Given the description of an element on the screen output the (x, y) to click on. 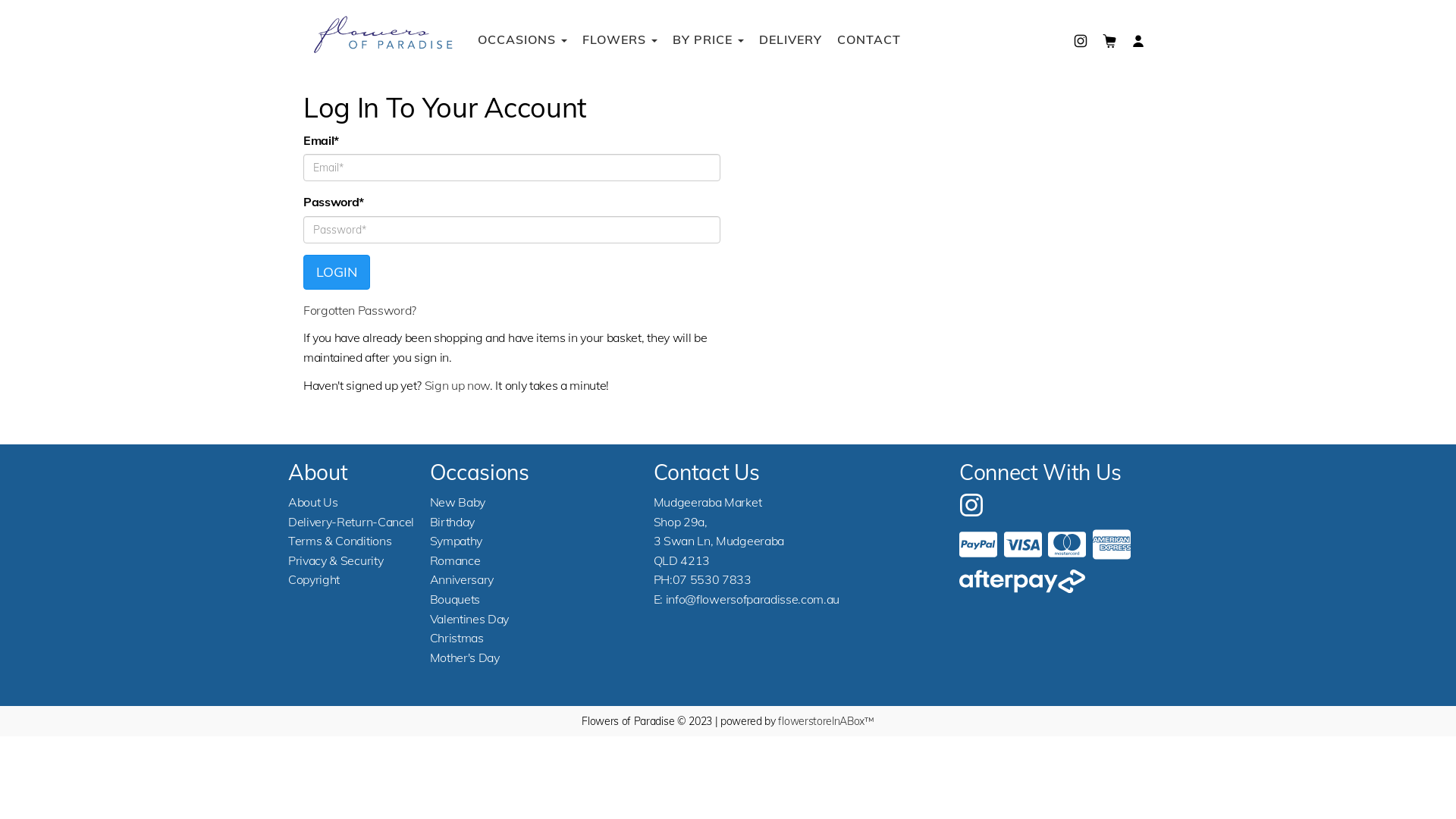
Romance Element type: text (454, 559)
Forgotten Password? Element type: text (359, 309)
CONTACT Element type: text (868, 39)
About Us Element type: text (312, 501)
Delivery-Return-Cancel Element type: text (351, 521)
FLOWERS Element type: text (619, 39)
New Baby Element type: text (457, 501)
Sign up now Element type: text (456, 384)
Anniversary Element type: text (461, 578)
Privacy & Security Element type: text (335, 559)
Terms & Conditions Element type: text (339, 540)
Christmas Element type: text (456, 637)
Mother's Day Element type: text (464, 657)
Bouquets Element type: text (454, 598)
Valentines Day Element type: text (469, 618)
Login Element type: text (336, 271)
info@flowersofparadisse.com.au Element type: text (752, 598)
instagram Element type: text (971, 503)
DELIVERY Element type: text (790, 39)
Sympathy Element type: text (455, 540)
BY PRICE Element type: text (708, 39)
Copyright Element type: text (313, 578)
Birthday Element type: text (451, 521)
OCCASIONS Element type: text (522, 39)
